Given the description of an element on the screen output the (x, y) to click on. 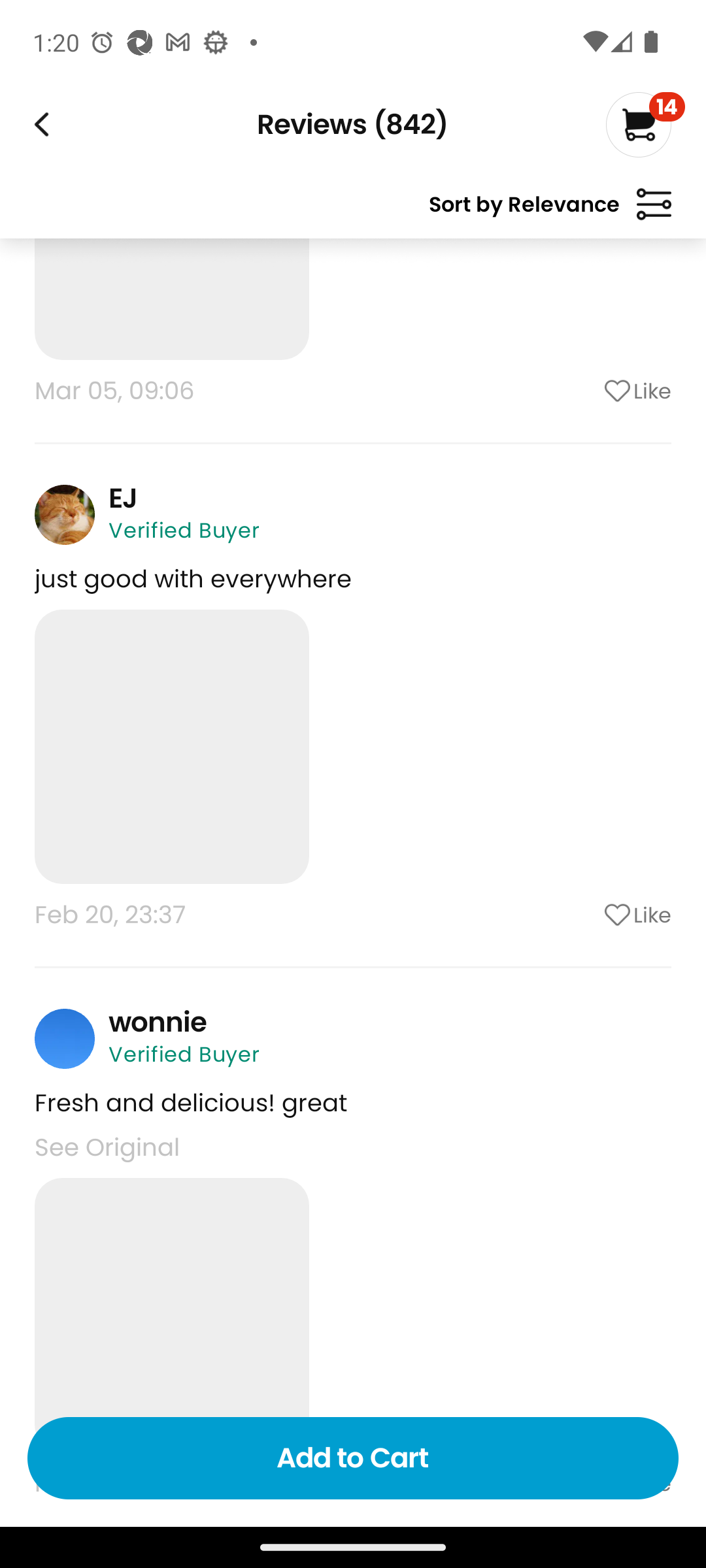
14 (644, 124)
Sort by Relevance (549, 212)
Like (585, 391)
EJ (122, 497)
Verified Buyer (183, 530)
Like (585, 914)
wonnie (157, 1022)
Verified Buyer (183, 1054)
See Original (107, 1146)
Add to Cart (352, 1458)
